Given the description of an element on the screen output the (x, y) to click on. 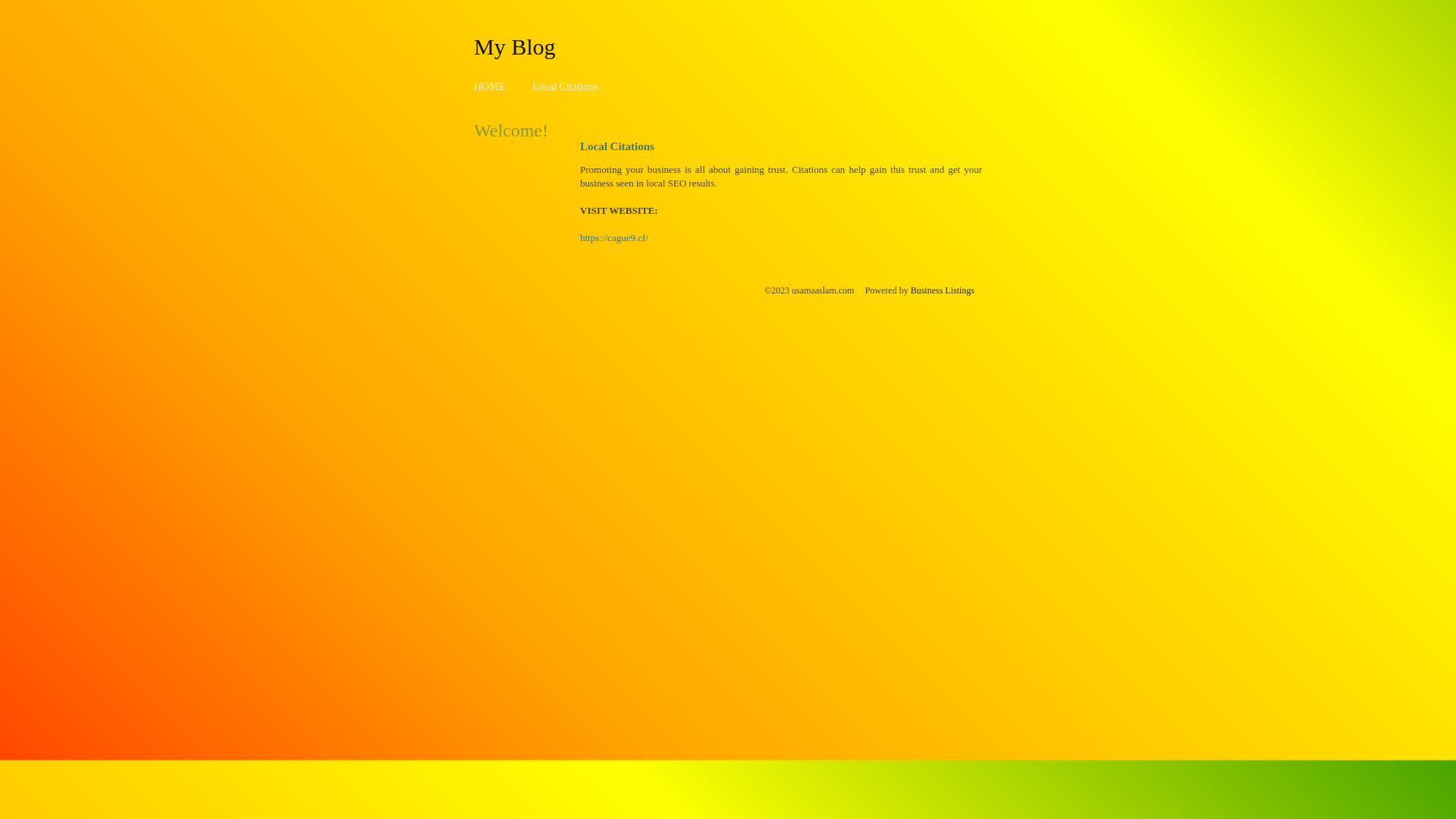
My Blog Element type: text (514, 46)
Local Citations Element type: text (564, 86)
Business Listings Element type: text (942, 290)
https://cague9.cf/ Element type: text (614, 237)
HOME Element type: text (489, 86)
